Given the description of an element on the screen output the (x, y) to click on. 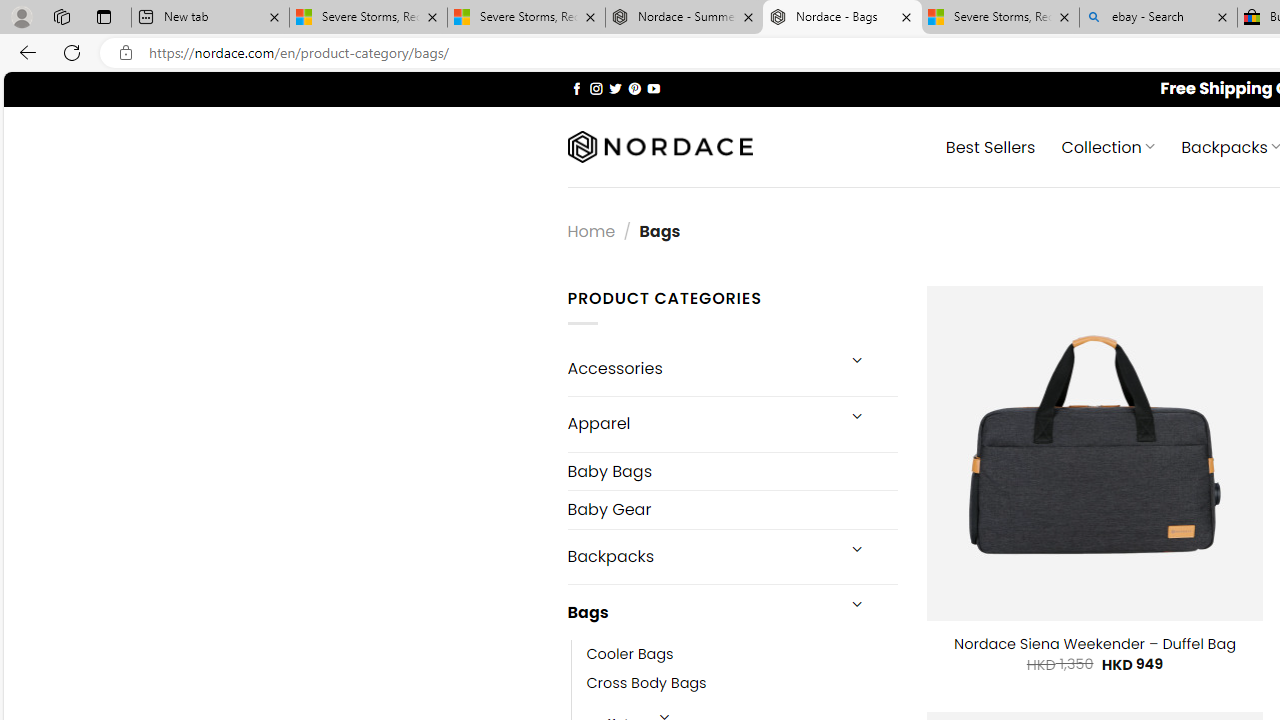
Apparel (700, 423)
Cooler Bags (630, 655)
Cross Body Bags (646, 683)
Baby Gear (732, 510)
